Given the description of an element on the screen output the (x, y) to click on. 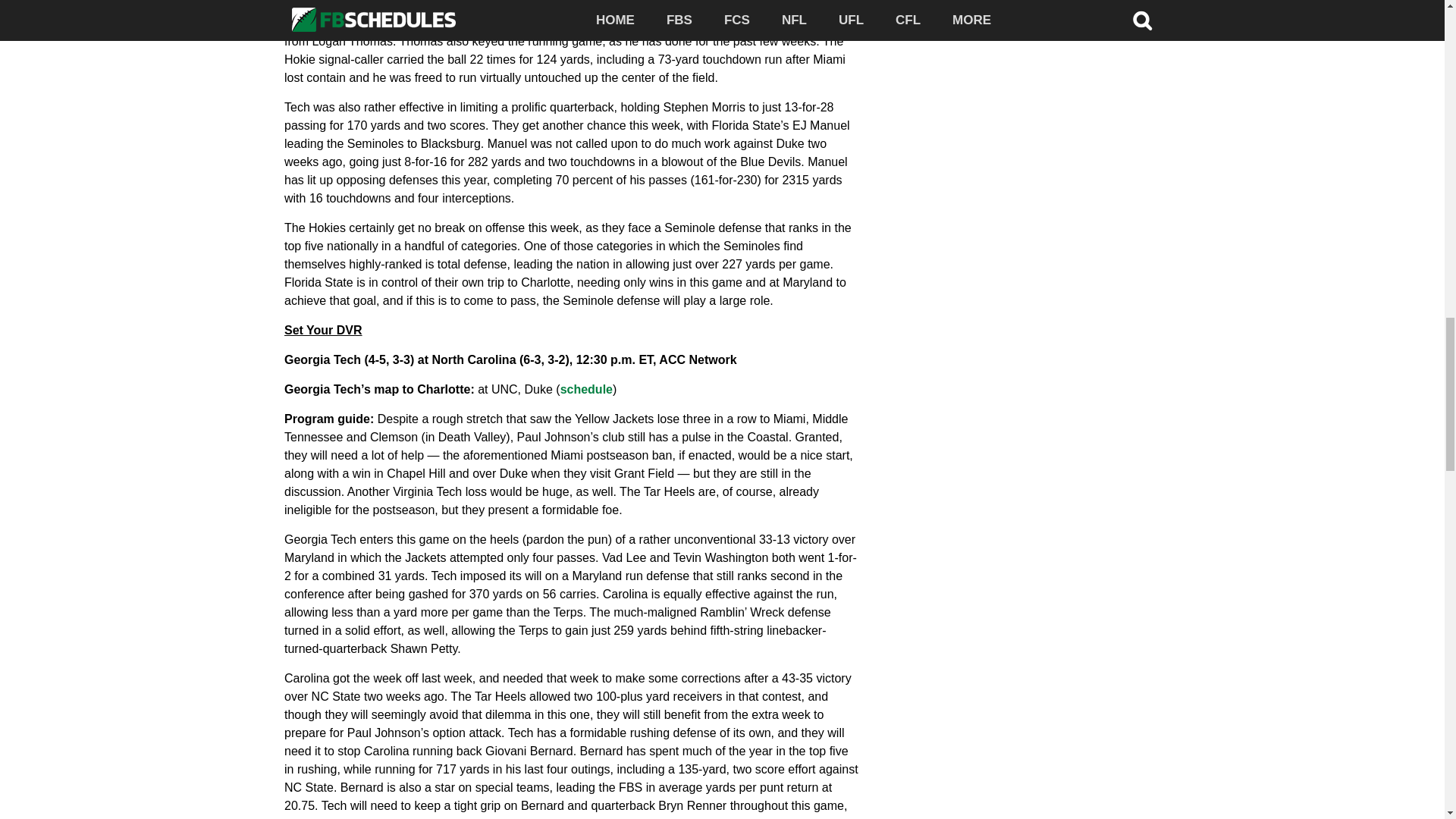
2012 Georgia Tech Yellow Jackets Football Schedule (586, 389)
